Given the description of an element on the screen output the (x, y) to click on. 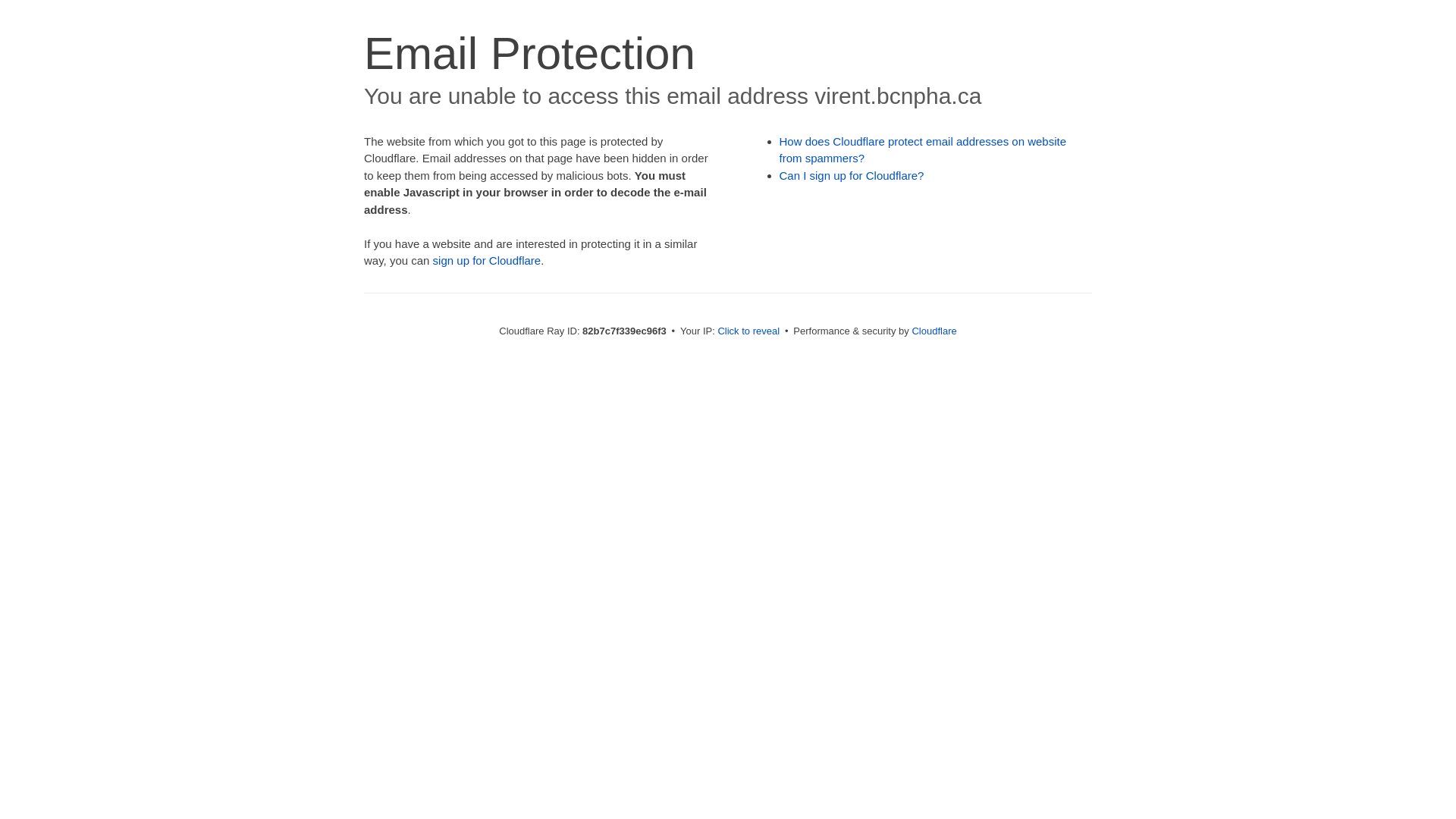
sign up for Cloudflare Element type: text (487, 260)
Click to reveal Element type: text (748, 330)
Cloudflare Element type: text (933, 330)
Can I sign up for Cloudflare? Element type: text (851, 175)
